Given the description of an element on the screen output the (x, y) to click on. 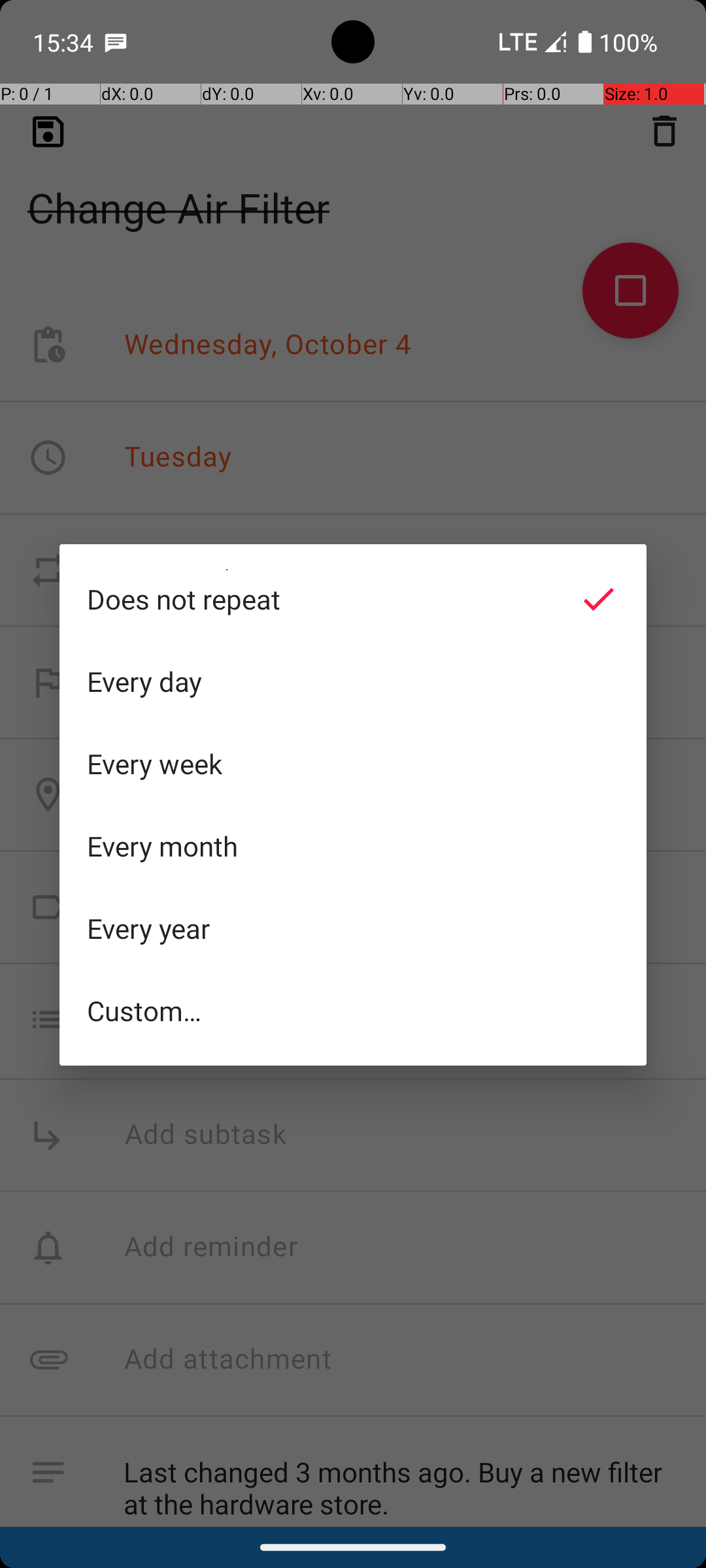
Every day Element type: android.widget.CheckedTextView (352, 681)
Every week Element type: android.widget.CheckedTextView (352, 763)
Every month Element type: android.widget.CheckedTextView (352, 845)
Every year Element type: android.widget.CheckedTextView (352, 928)
Custom… Element type: android.widget.CheckedTextView (352, 1010)
